Given the description of an element on the screen output the (x, y) to click on. 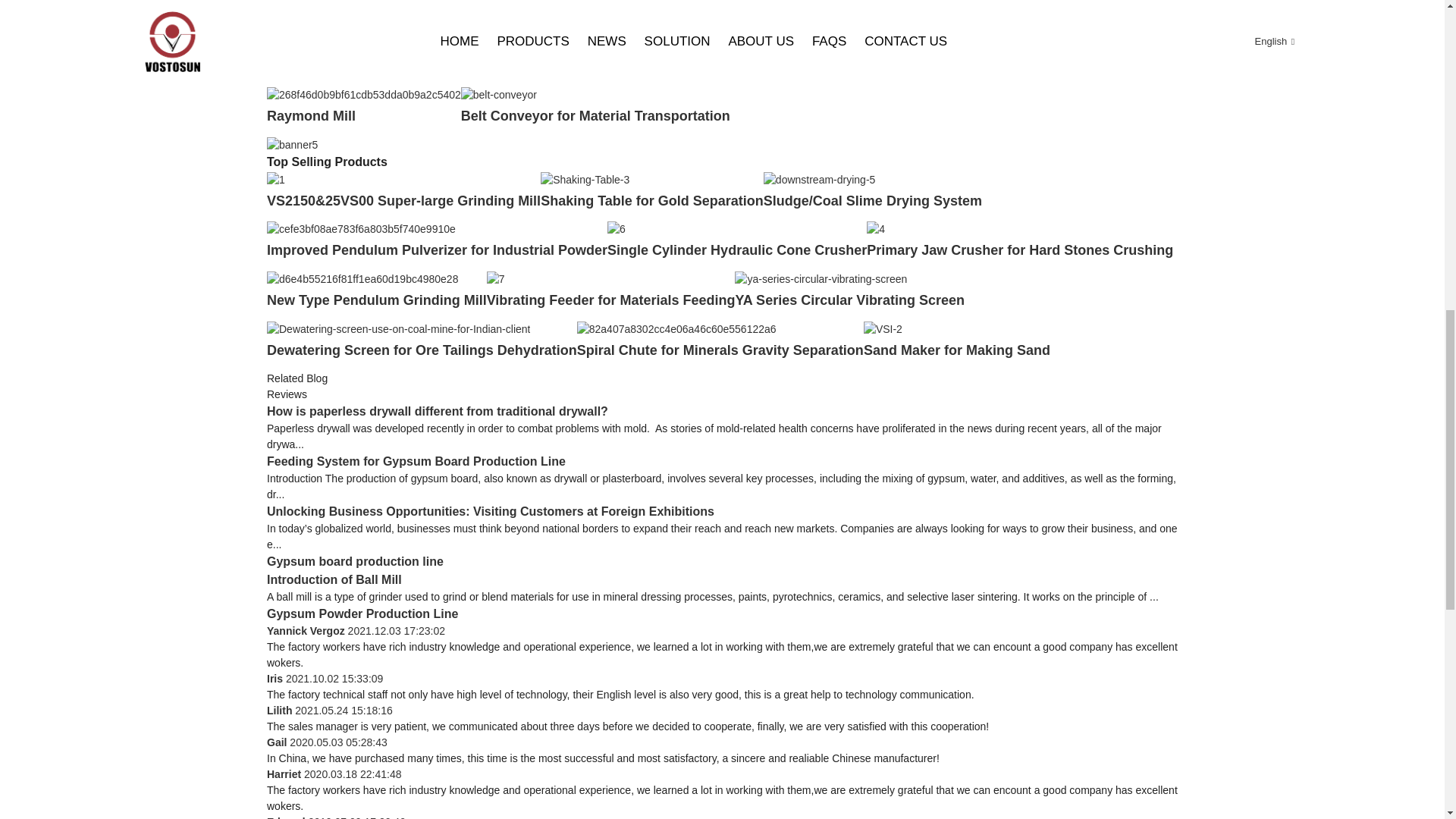
Single Cylinder or Drum Dryer (364, 65)
Flotation Machine or Flotation Cell (930, 43)
Mesh Belt Dryer (514, 65)
Three Cylinder or Drum Dryer (362, 9)
Single Cylinder or Drum Dryer (364, 65)
Single Cylinder or Drum Dryer (278, 43)
Three Cylinder or Drum Dryer (292, 28)
Mesh Belt Dryer (517, 43)
Three Cylinder or Drum Dryer (362, 9)
Mesh Belt Dryer (514, 65)
Read More (292, 28)
